Given the description of an element on the screen output the (x, y) to click on. 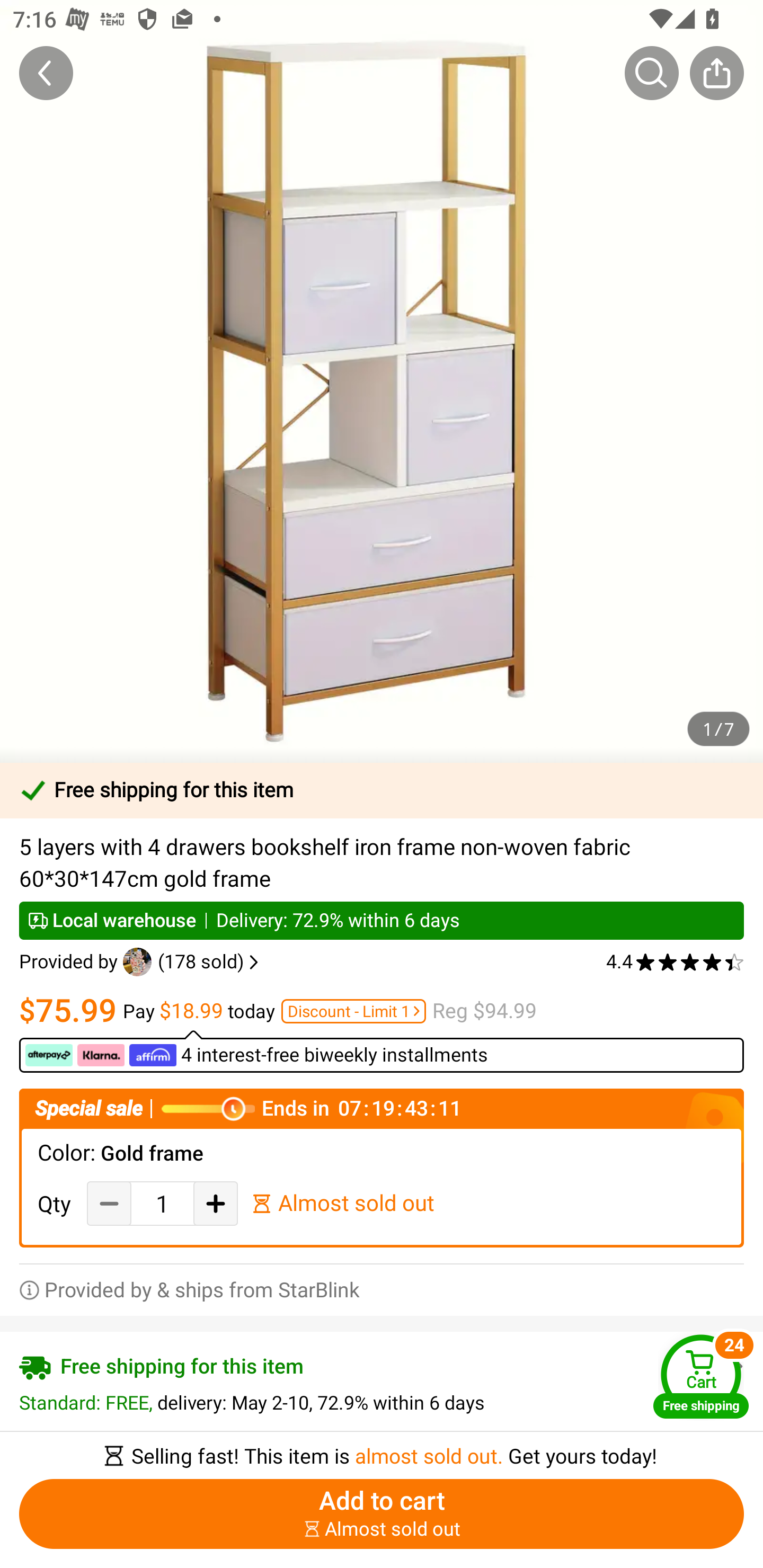
Back (46, 72)
Share (716, 72)
Free shipping for this item (381, 790)
Local warehouse Delivery: 72.9% within 6 days (381, 920)
By null(178 sold) Provided by  (178 sold) (141, 961)
Provided by  (70, 961)
4.4 (674, 961)
￼ ￼ ￼ 4 interest-free biweekly installments (381, 1051)
Special sale Ends in￼￼ (381, 1108)
Decrease Quantity Button (108, 1203)
Add Quantity button (215, 1203)
1 (162, 1204)
Cart Free shipping Cart (701, 1375)
Add to cart ￼￼Almost sold out (381, 1513)
